Given the description of an element on the screen output the (x, y) to click on. 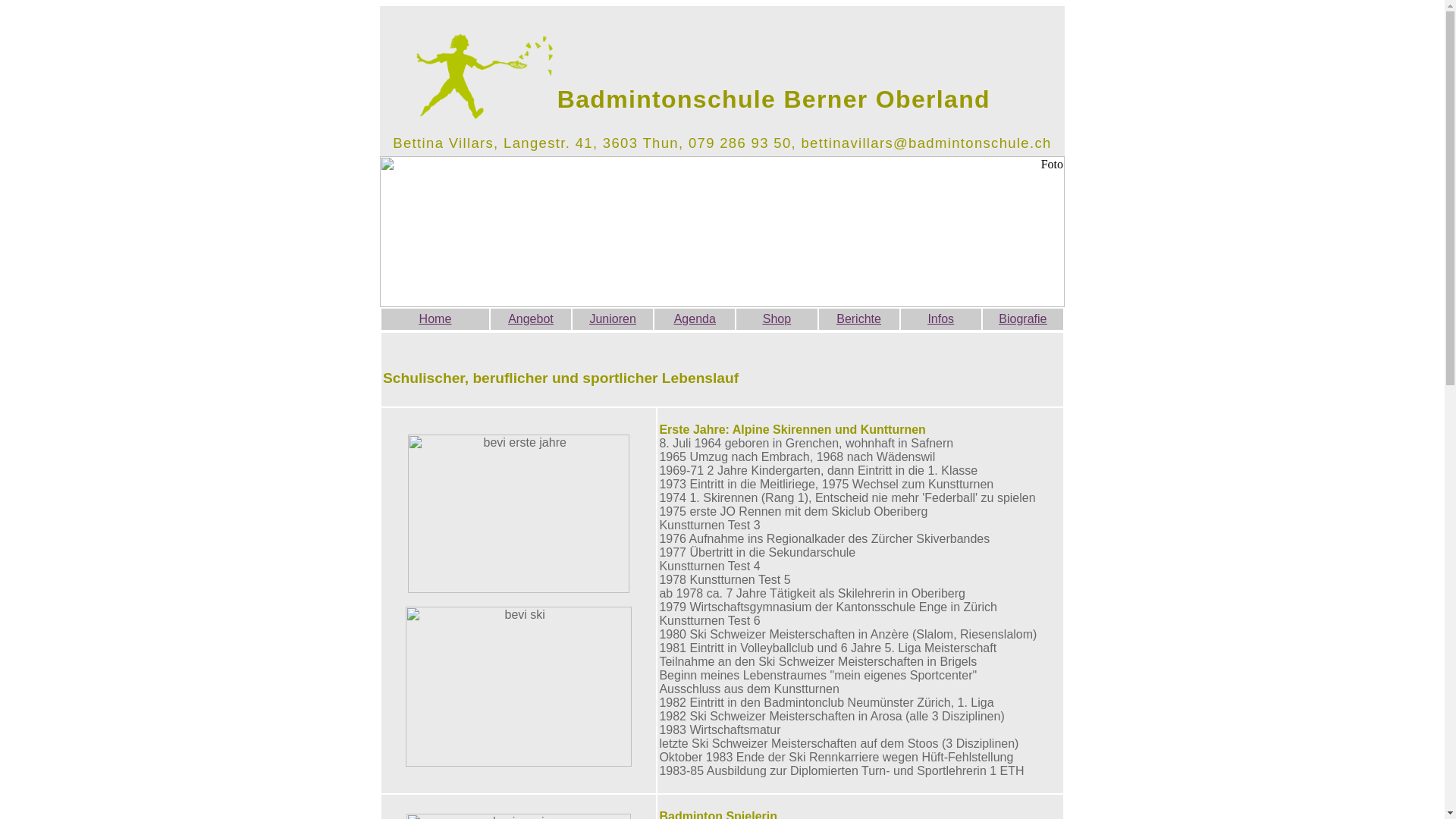
Infos Element type: text (940, 318)
Shop Element type: text (776, 318)
Agenda Element type: text (694, 318)
Junioren Element type: text (612, 318)
Angebot Element type: text (530, 318)
Biografie Element type: text (1022, 318)
Berichte Element type: text (858, 318)
Home Element type: text (435, 318)
